Given the description of an element on the screen output the (x, y) to click on. 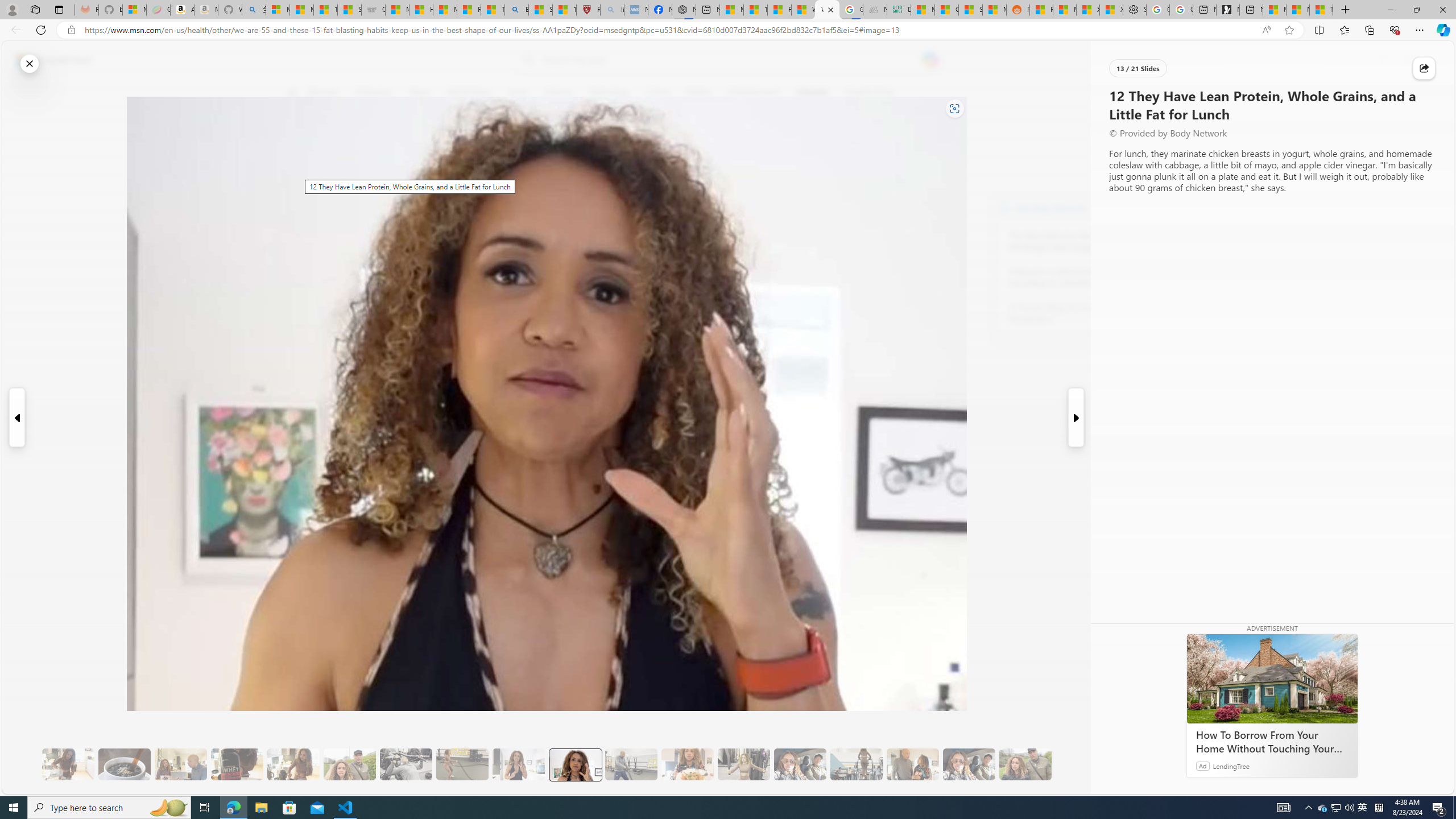
9 They Do Bench Exercises (406, 764)
Go to publisher's site (830, 146)
13 Her Husband Does Group Cardio Classs (631, 764)
Technology (608, 92)
15 They Also Indulge in a Low-Calorie Sweet Treat (743, 764)
Body Network (449, 147)
